Given the description of an element on the screen output the (x, y) to click on. 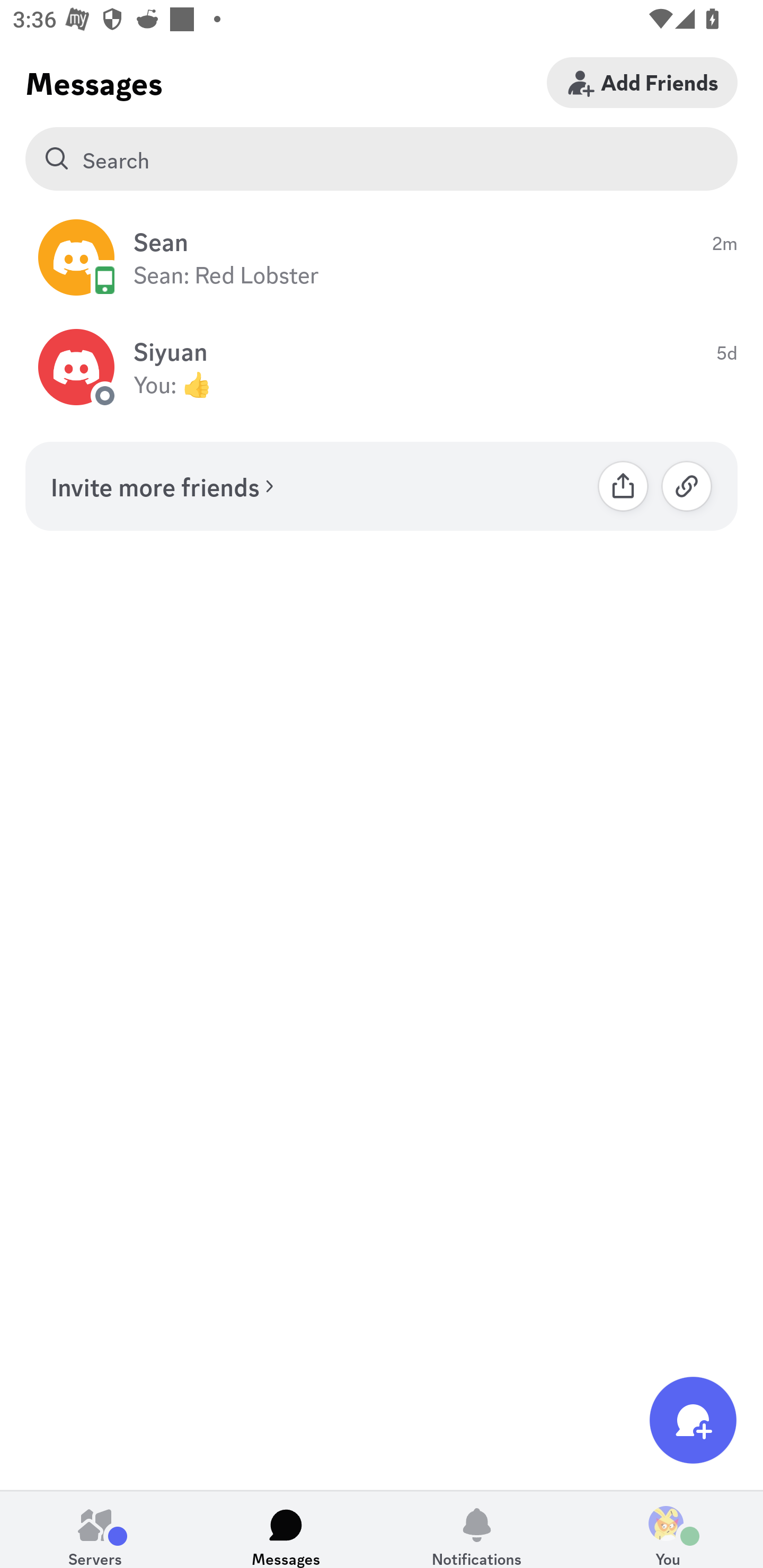
Add Friends (642, 82)
Search (381, 159)
Sean (direct message) Sean 2m Sean: Red Lobster (381, 257)
Siyuan (direct message) Siyuan 5d You: 👍 (381, 367)
Share Link (622, 485)
Copy Link (686, 485)
New Message (692, 1419)
Servers (95, 1529)
Messages (285, 1529)
Notifications (476, 1529)
You (667, 1529)
